Given the description of an element on the screen output the (x, y) to click on. 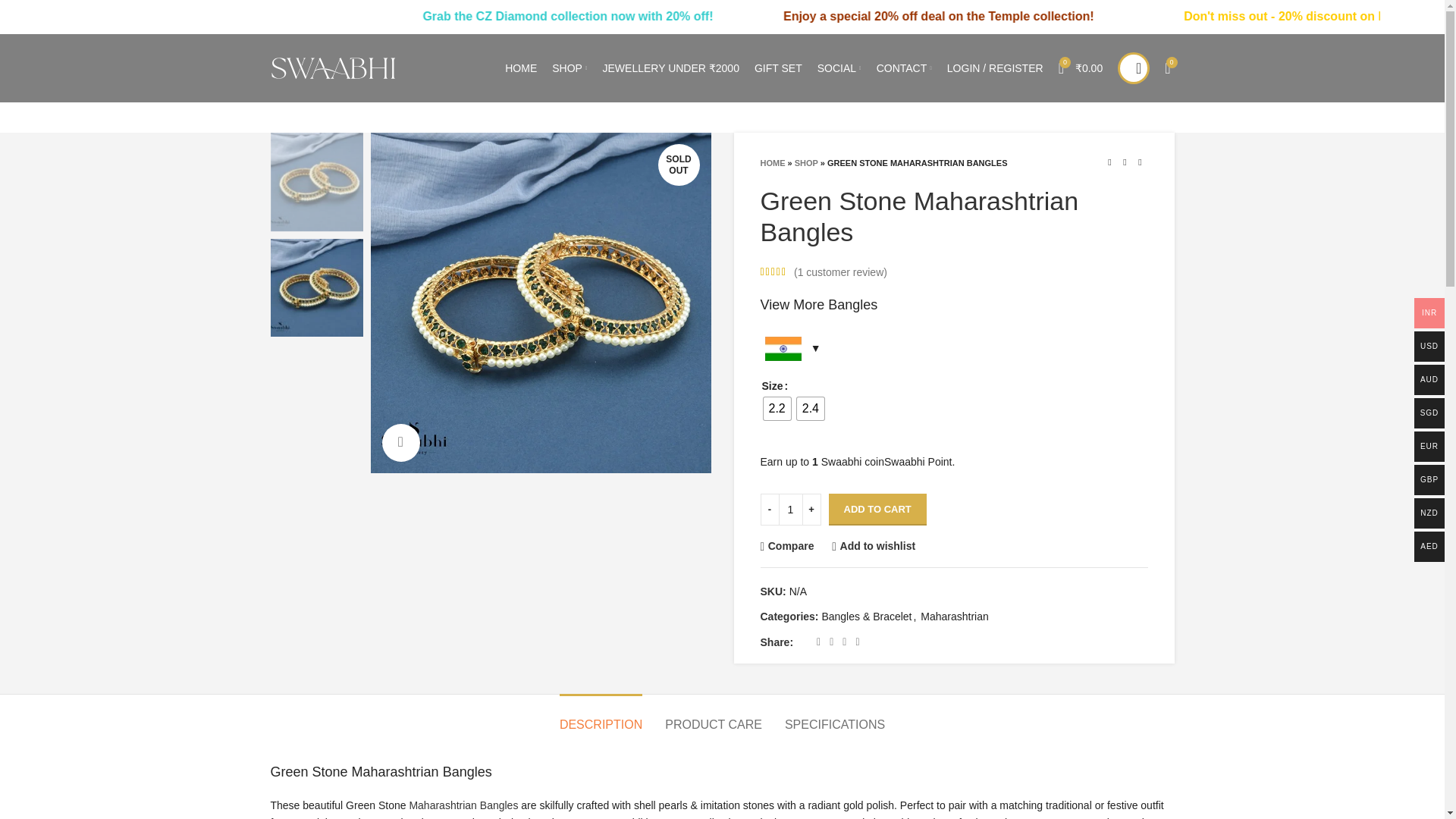
SHOP (568, 68)
Temple collection! (1209, 15)
HOME (521, 68)
CZ Diamond (670, 15)
